Given the description of an element on the screen output the (x, y) to click on. 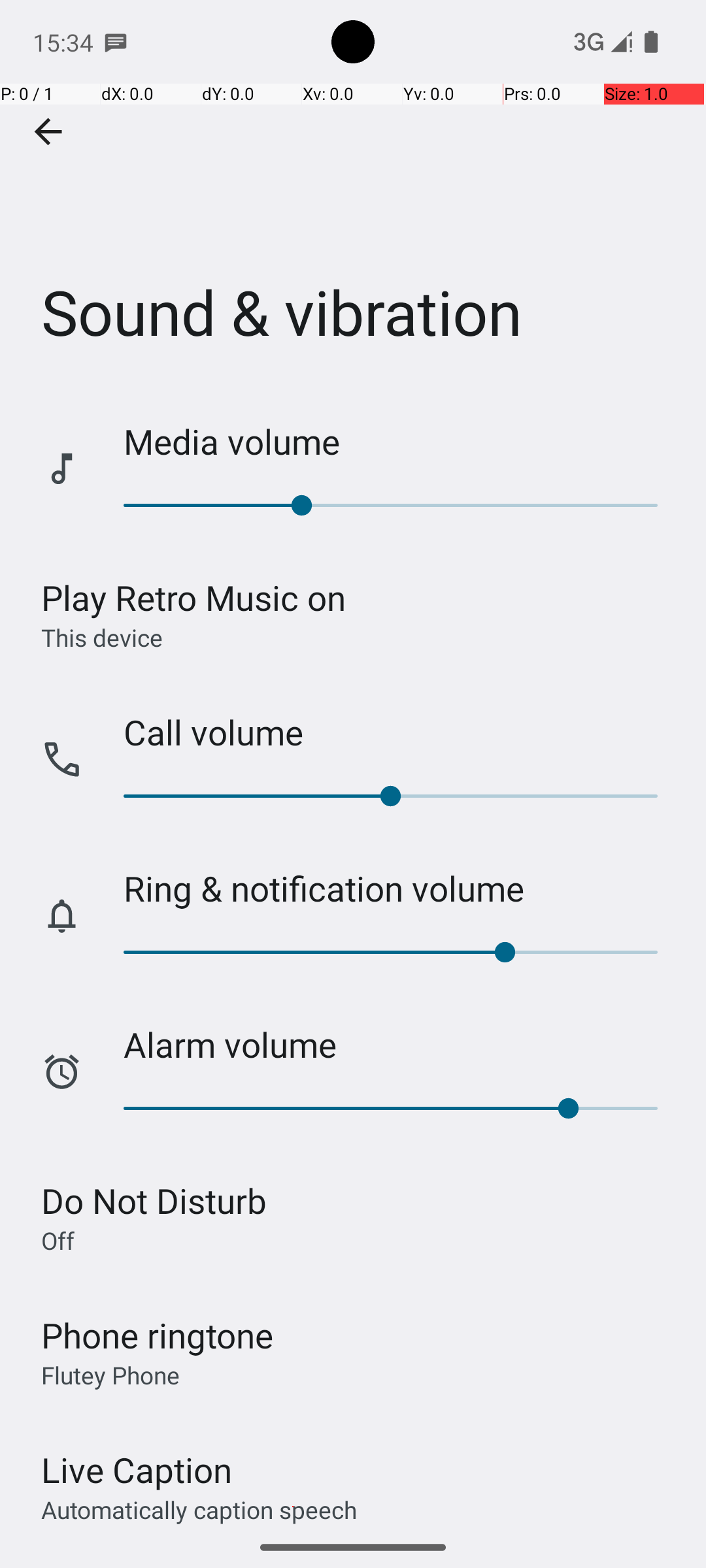
Media volume Element type: android.widget.TextView (400, 441)
Play Retro Music on Element type: android.widget.TextView (193, 597)
This device Element type: android.widget.TextView (101, 636)
Call volume Element type: android.widget.TextView (400, 731)
Ring & notification volume Element type: android.widget.TextView (400, 888)
Alarm volume Element type: android.widget.TextView (400, 1044)
Do Not Disturb Element type: android.widget.TextView (153, 1200)
Phone ringtone Element type: android.widget.TextView (157, 1334)
Flutey Phone Element type: android.widget.TextView (110, 1374)
Live Caption Element type: android.widget.TextView (136, 1469)
Automatically caption speech Element type: android.widget.TextView (199, 1509)
